Given the description of an element on the screen output the (x, y) to click on. 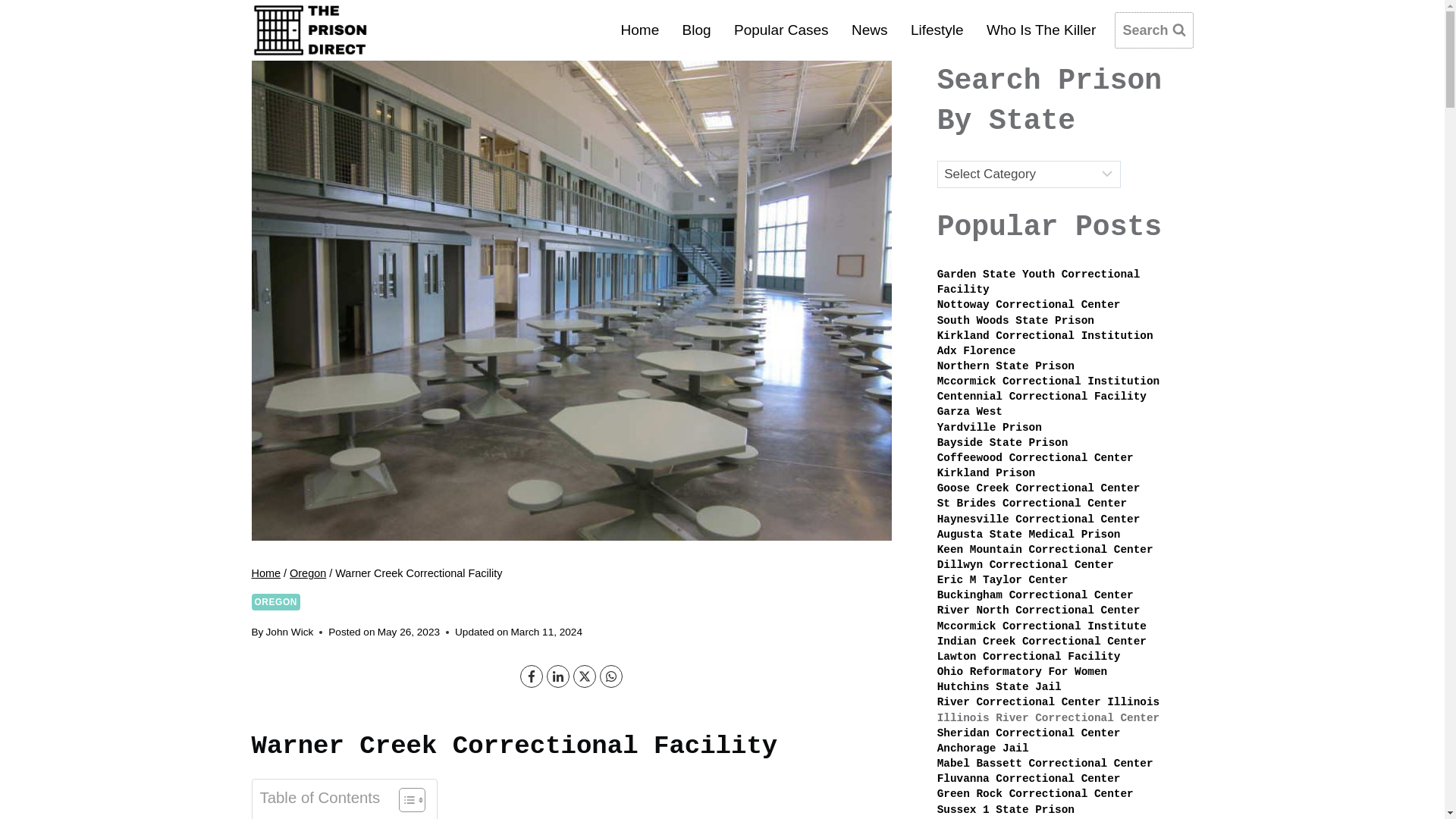
Who Is The Killer (1041, 29)
OREGON (275, 601)
John Wick (290, 632)
Home (638, 29)
Lifestyle (937, 29)
Popular Cases (781, 29)
Home (266, 573)
Search (1153, 30)
News (869, 29)
